Given the description of an element on the screen output the (x, y) to click on. 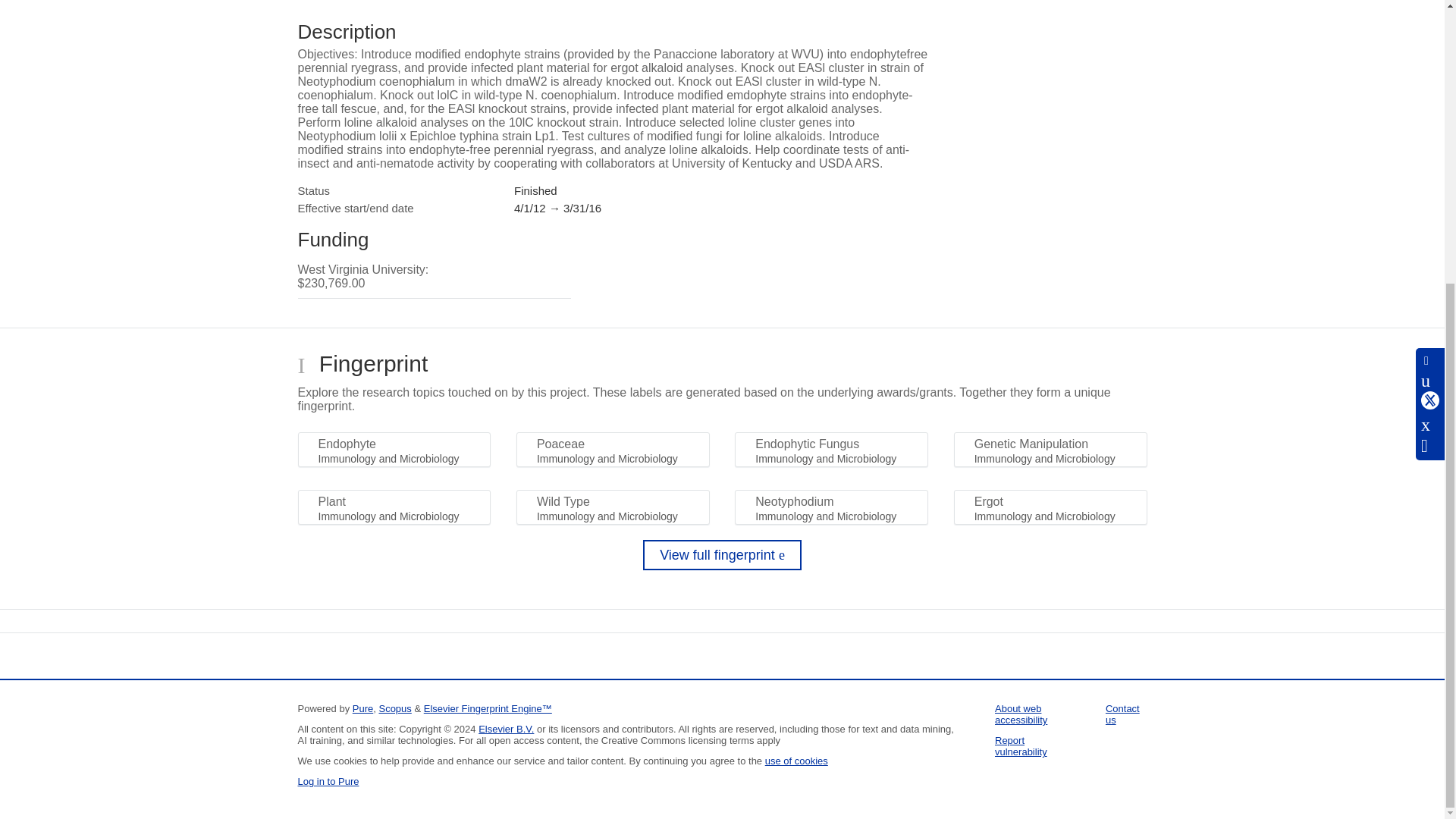
Pure (362, 708)
Scopus (394, 708)
Elsevier B.V. (506, 728)
Log in to Pure (327, 781)
use of cookies (796, 760)
View full fingerprint (722, 554)
